Given the description of an element on the screen output the (x, y) to click on. 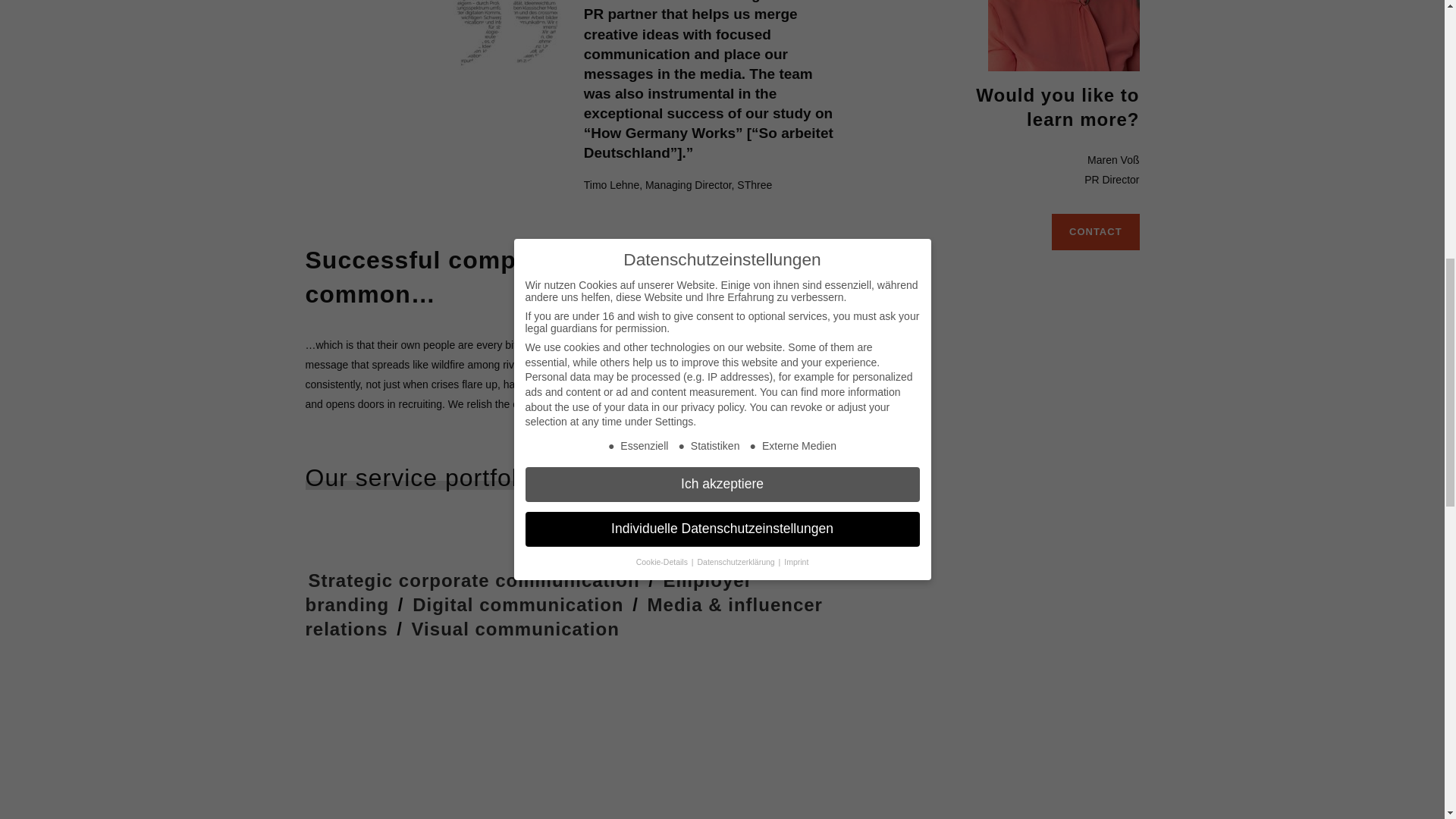
CONTACT (1095, 231)
Digital communication (517, 604)
Employer branding (527, 592)
Visual communication (516, 629)
Strategic corporate communication (473, 580)
